Given the description of an element on the screen output the (x, y) to click on. 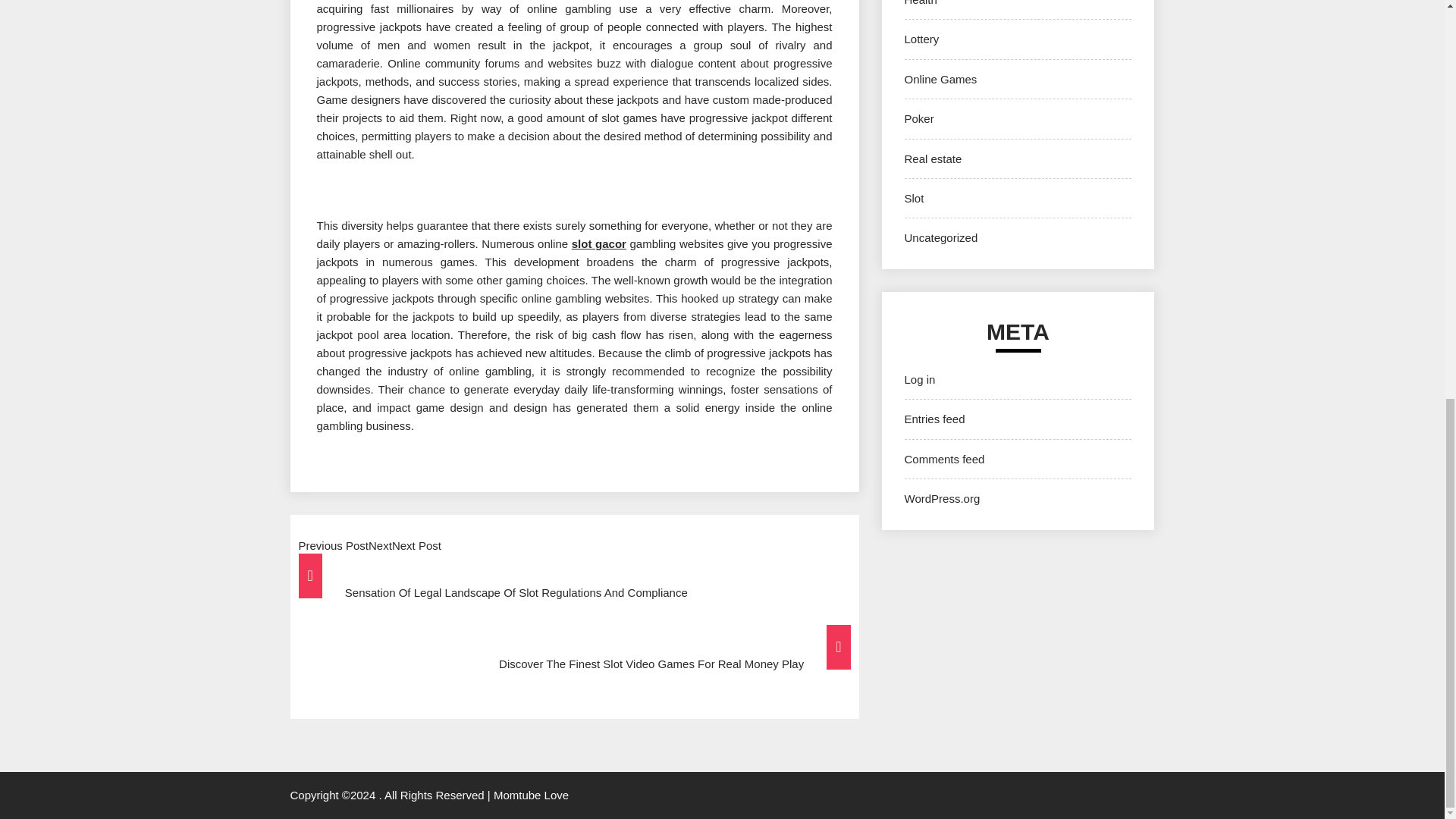
Poker (918, 118)
Comments feed (944, 459)
Lottery (921, 38)
WordPress.org (941, 498)
slot gacor (599, 243)
Entries feed (933, 418)
Real estate (932, 158)
Health (920, 2)
Slot (913, 197)
Online Games (940, 78)
